Given the description of an element on the screen output the (x, y) to click on. 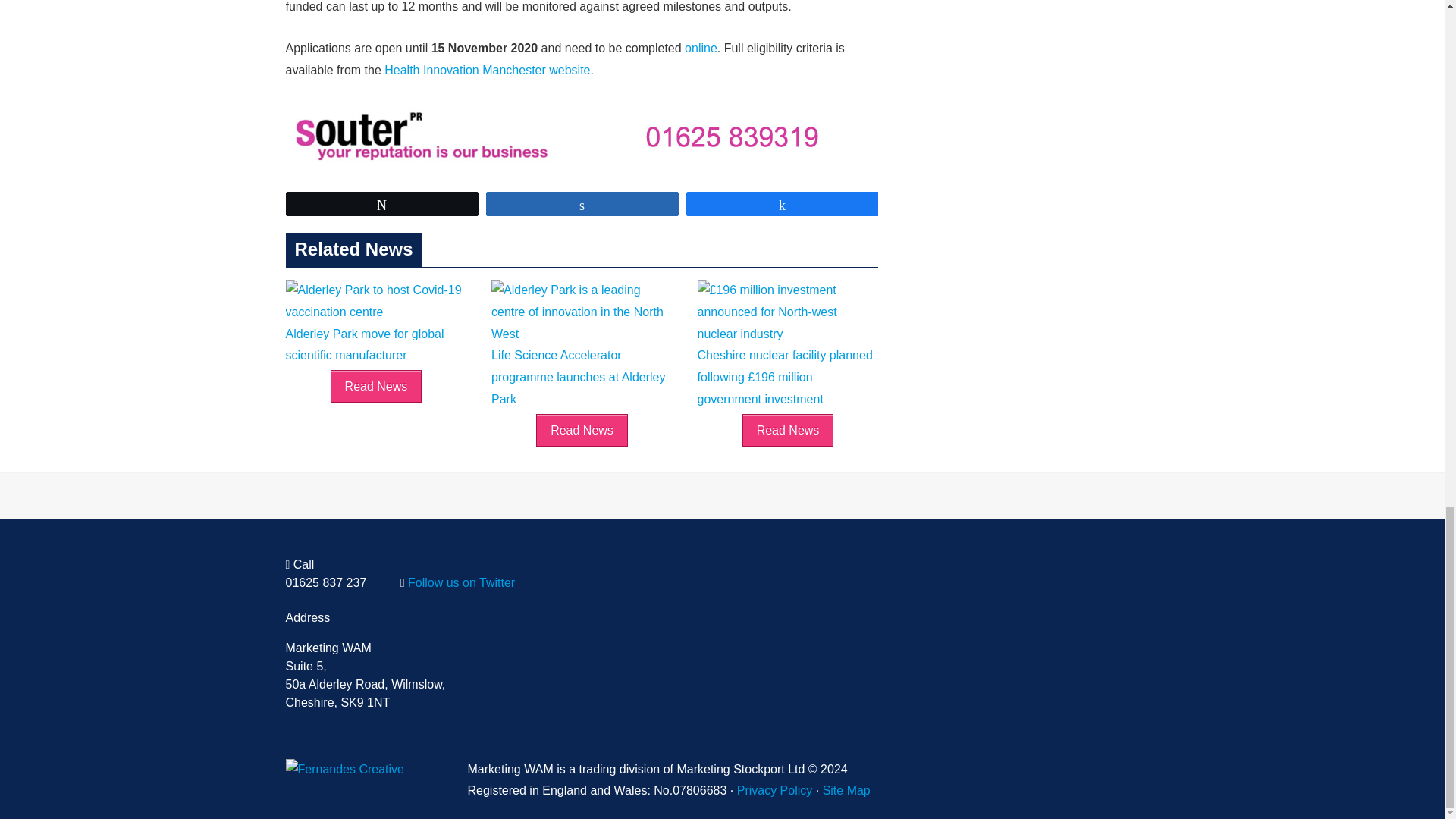
Read News (376, 386)
Read News (581, 430)
Life Science Accelerator programme launches at Alderley Park (582, 366)
Alderley Park move for global scientific manufacturer (375, 333)
Health Innovation Manchester website (486, 69)
online (700, 47)
